Given the description of an element on the screen output the (x, y) to click on. 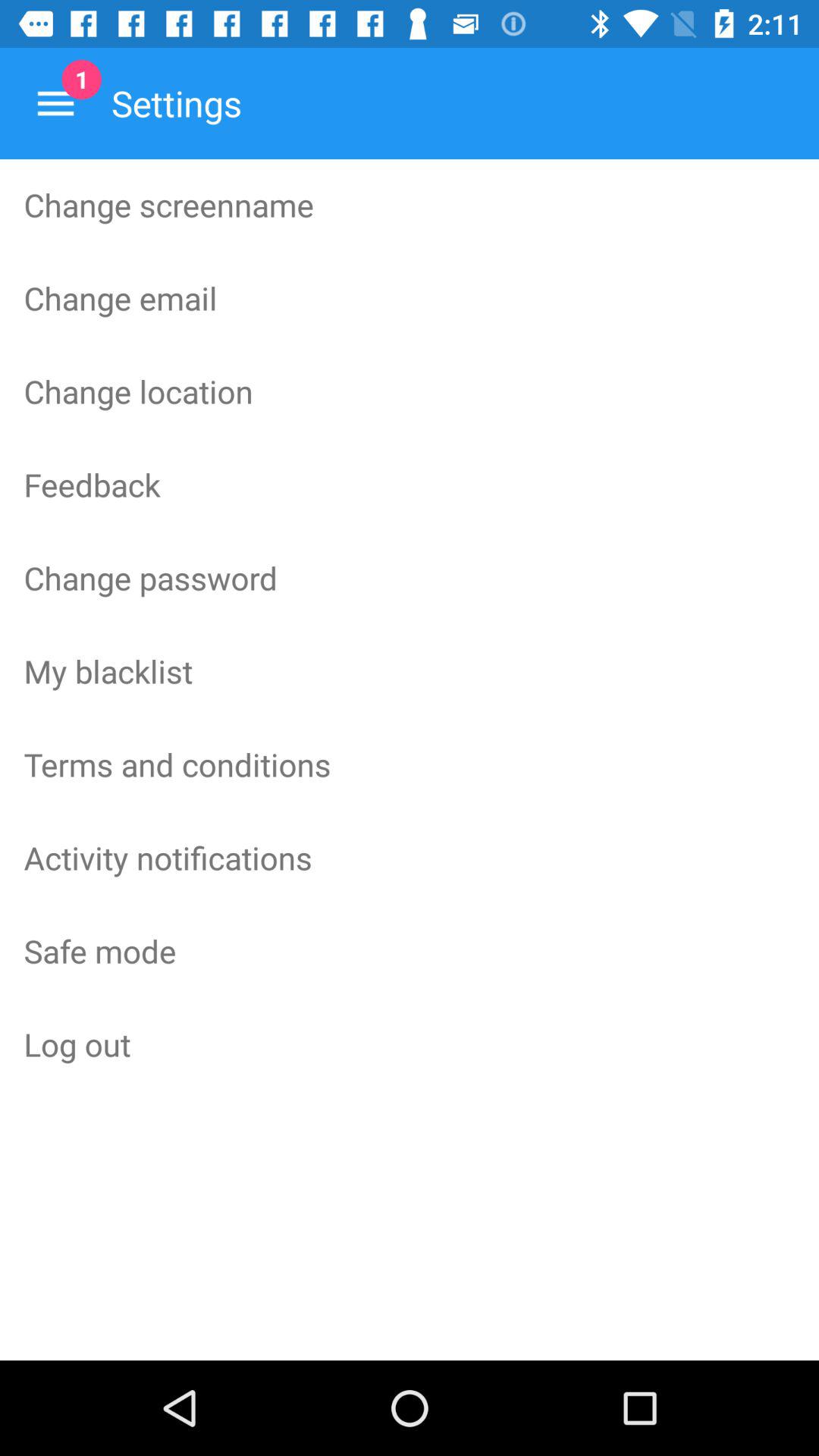
swipe until activity notifications (409, 857)
